Given the description of an element on the screen output the (x, y) to click on. 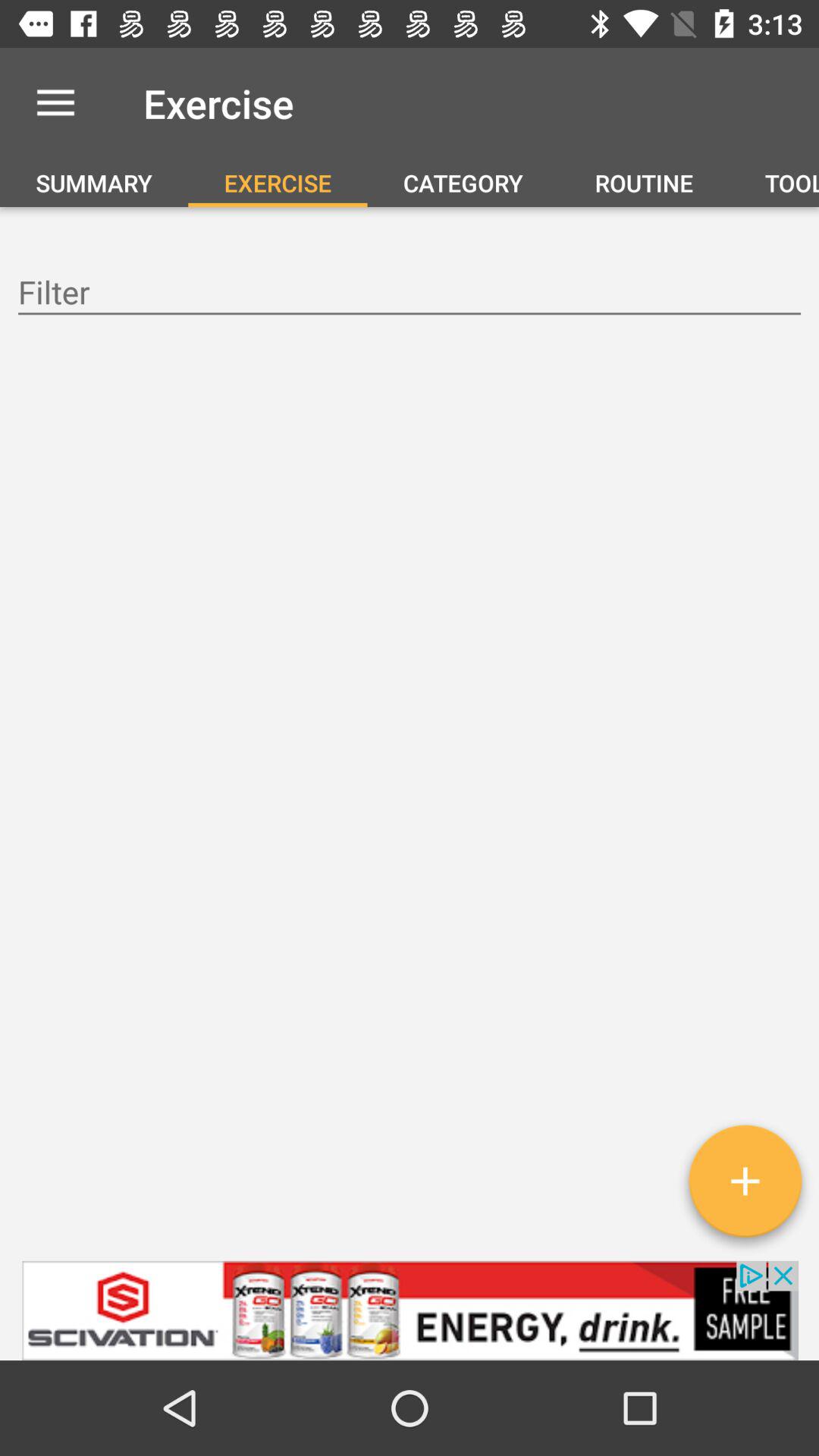
filter name (409, 294)
